Given the description of an element on the screen output the (x, y) to click on. 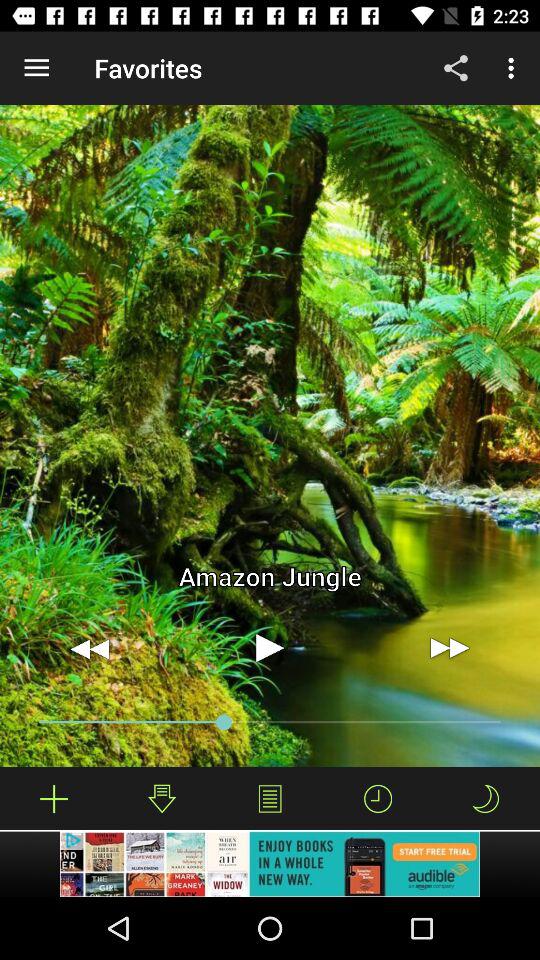
turn on the item below the amazon jungle item (450, 648)
